Given the description of an element on the screen output the (x, y) to click on. 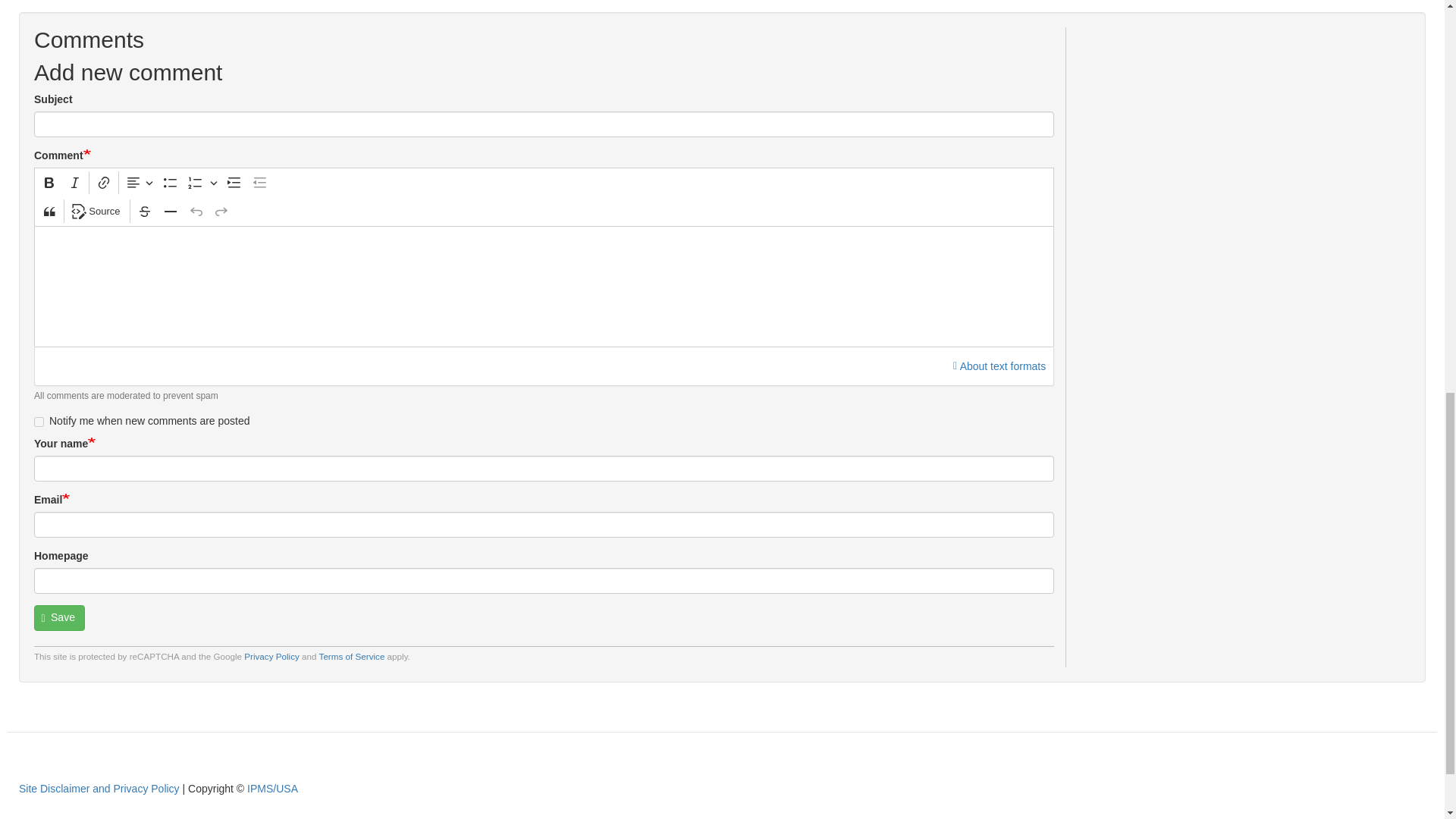
1 (38, 421)
